Given the description of an element on the screen output the (x, y) to click on. 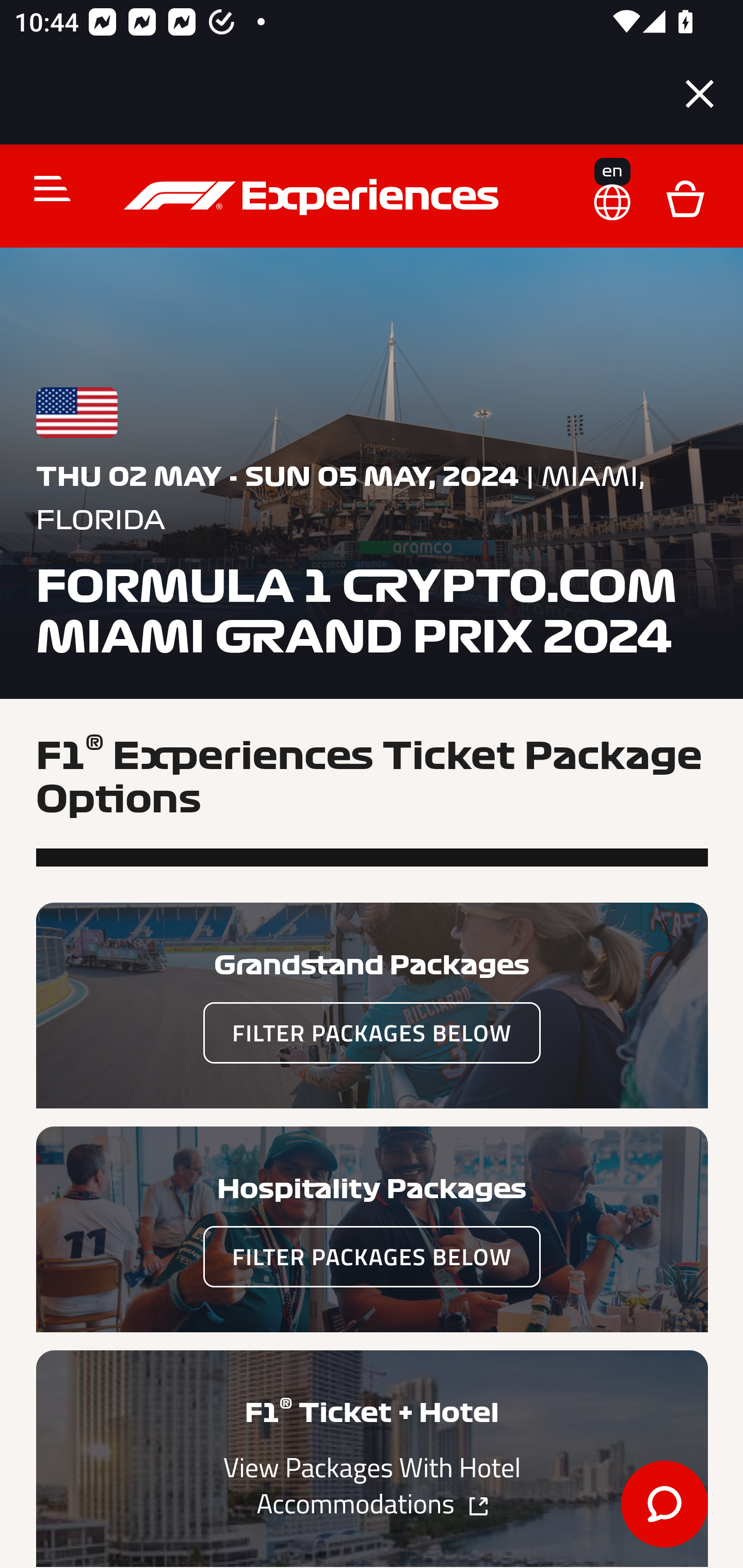
Close (699, 93)
Toggle navigation C (43, 188)
D (684, 197)
f1experiences (313, 197)
